Given the description of an element on the screen output the (x, y) to click on. 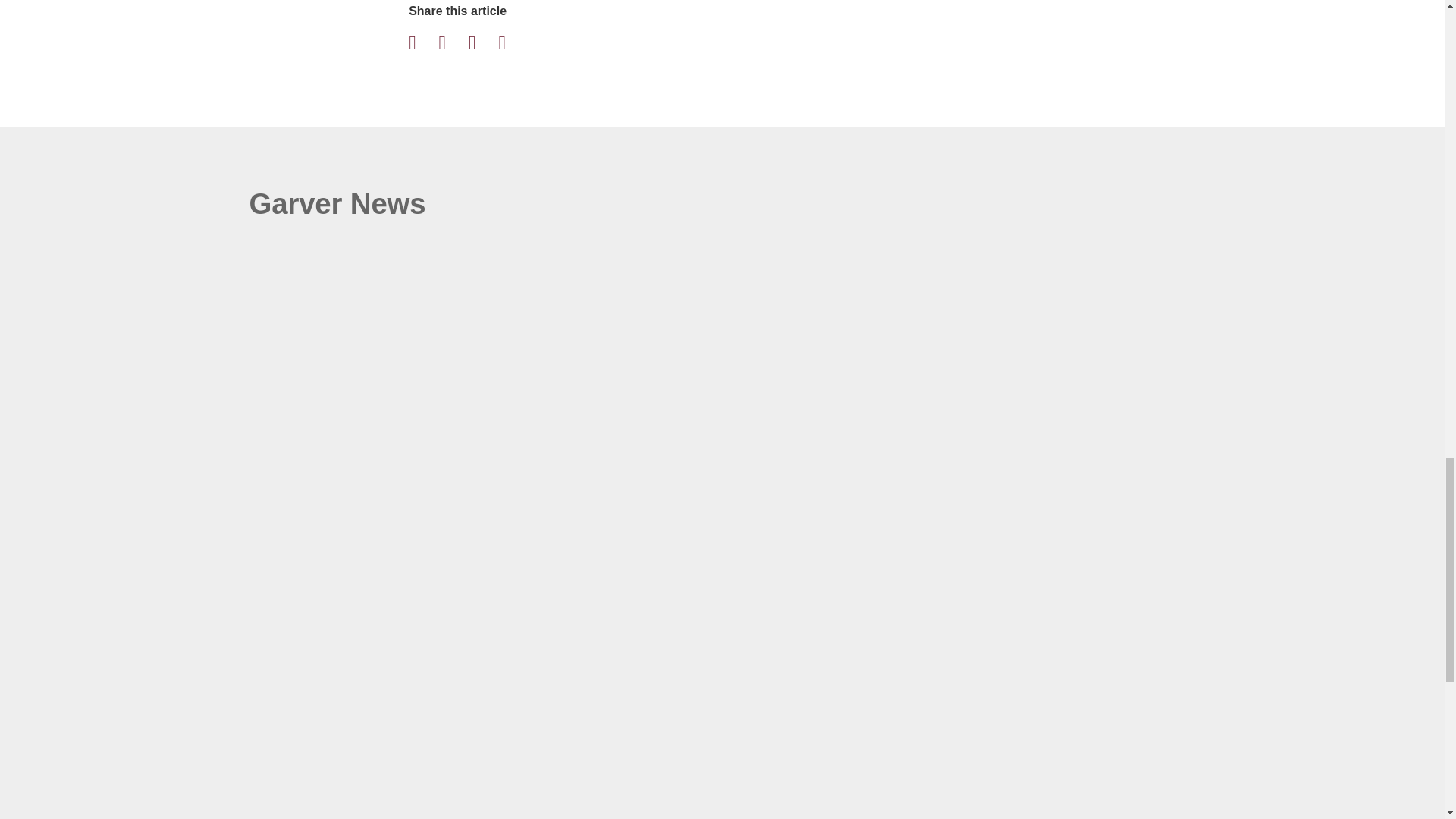
Share on Facebook (422, 42)
Share by Email (510, 42)
Share on LinkedIn (481, 42)
Share on Twitter (452, 42)
